Given the description of an element on the screen output the (x, y) to click on. 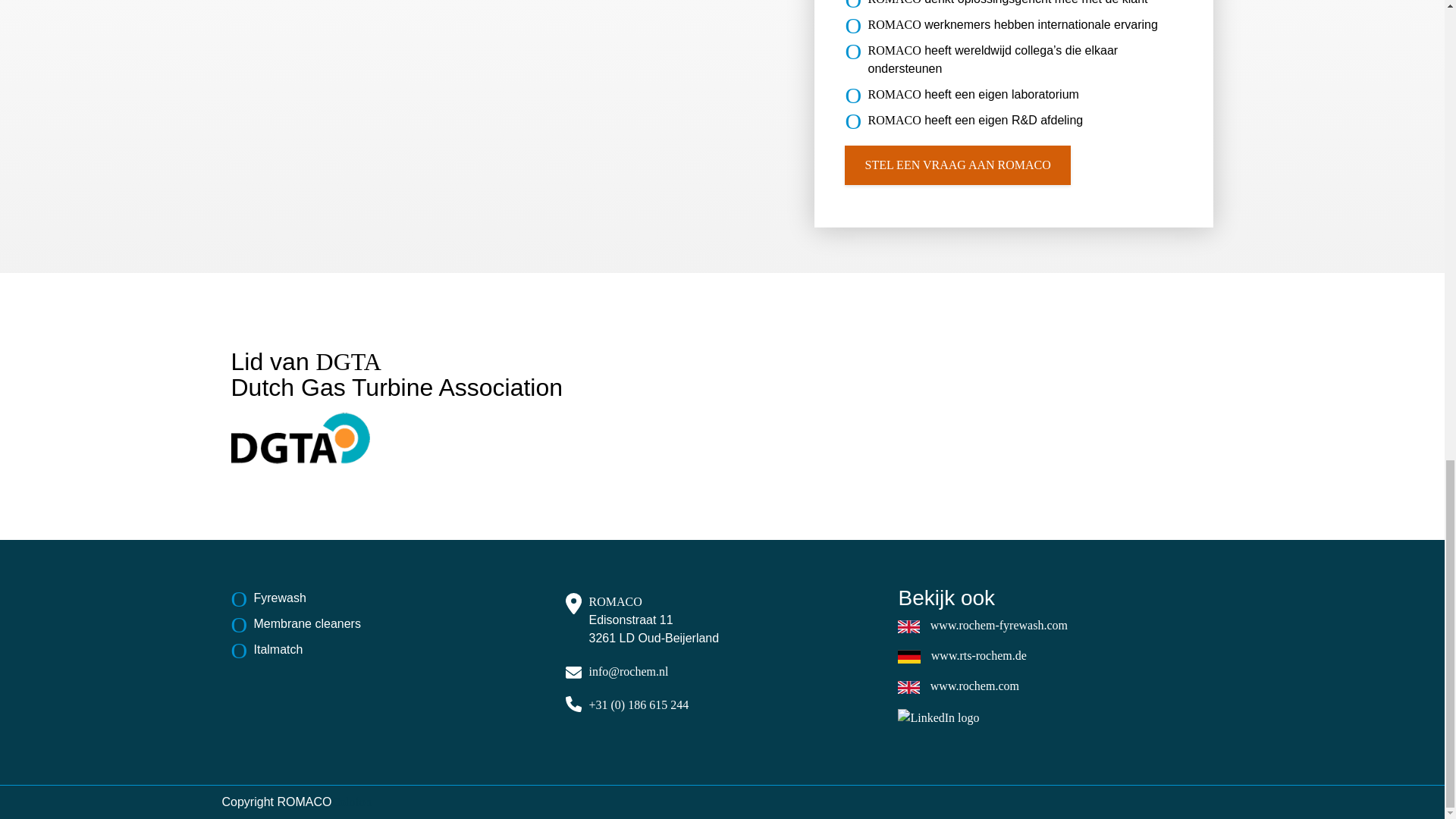
Italmatch (388, 649)
Membrane cleaners (388, 623)
Fyrewash (388, 597)
STEL EEN VRAAG AAN ROMACO (957, 165)
www.rochem-fyrewash.com (998, 625)
